Given the description of an element on the screen output the (x, y) to click on. 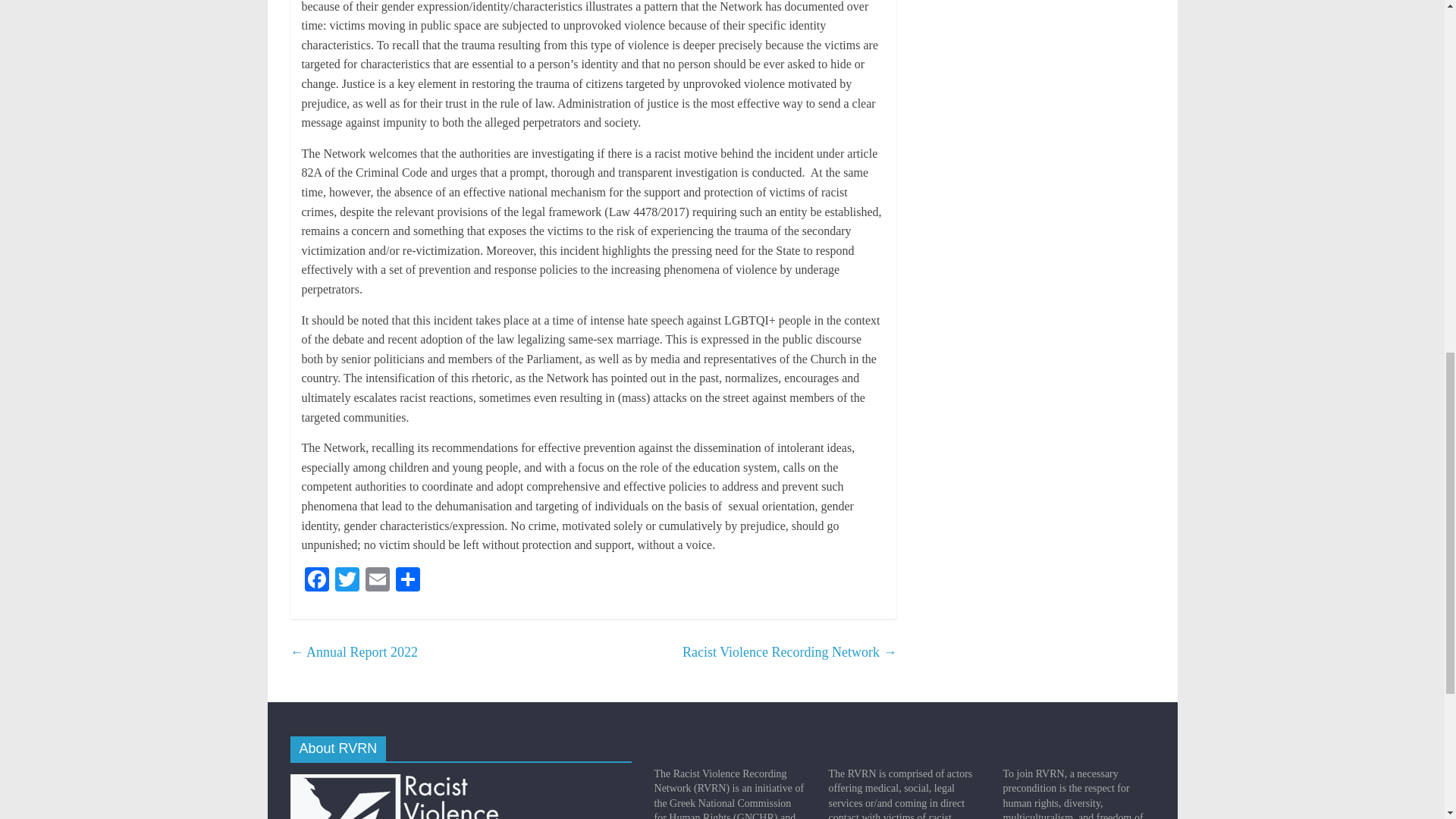
Twitter (346, 581)
Email (377, 581)
Twitter (346, 581)
Facebook (316, 581)
Email (377, 581)
Facebook (316, 581)
